Given the description of an element on the screen output the (x, y) to click on. 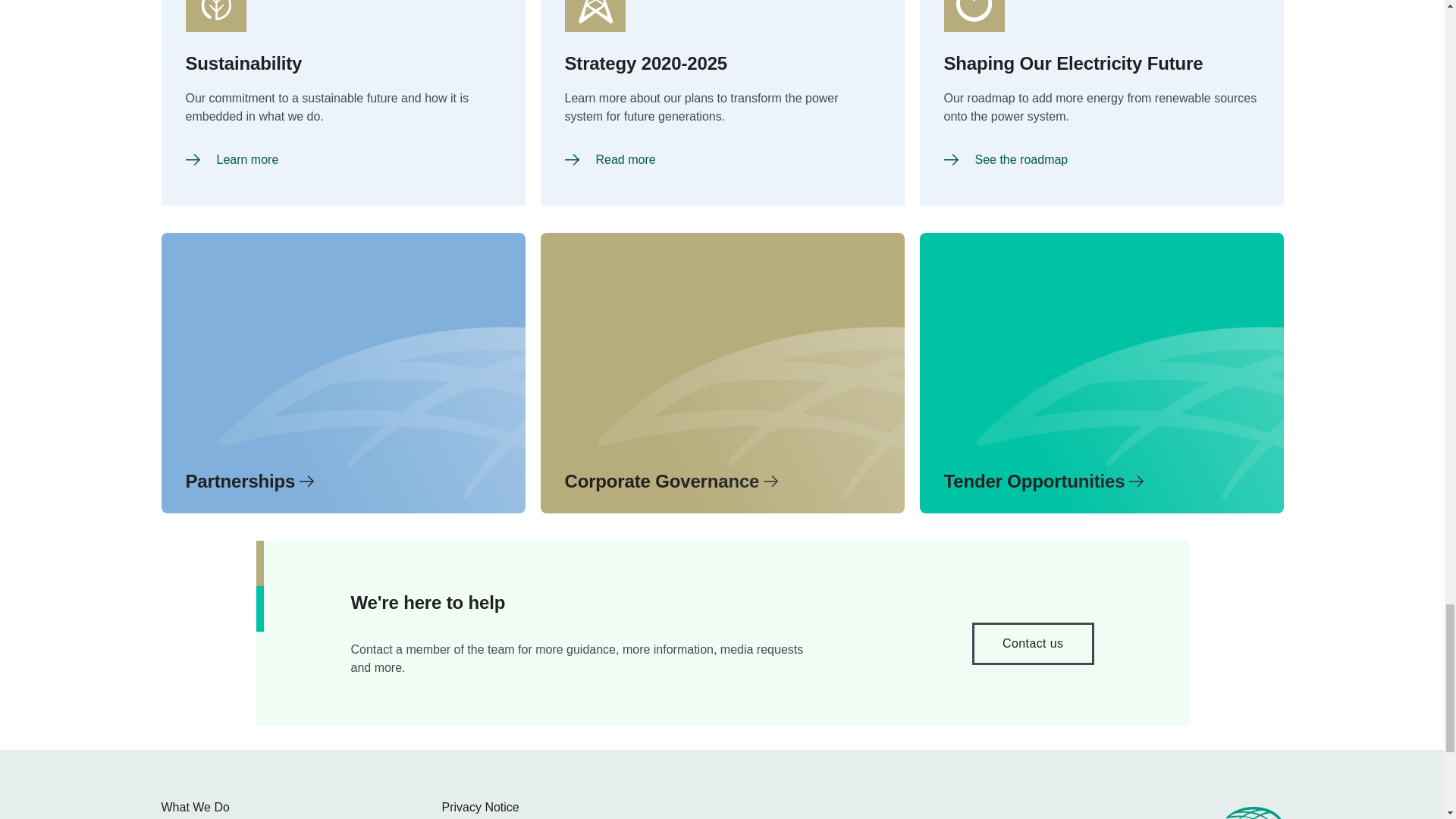
Privacy Notice (479, 808)
Partnerships (342, 372)
Tender Opportunities (1100, 372)
What We Do (194, 808)
Contact us (1032, 643)
Corporate Governance (722, 372)
